Given the description of an element on the screen output the (x, y) to click on. 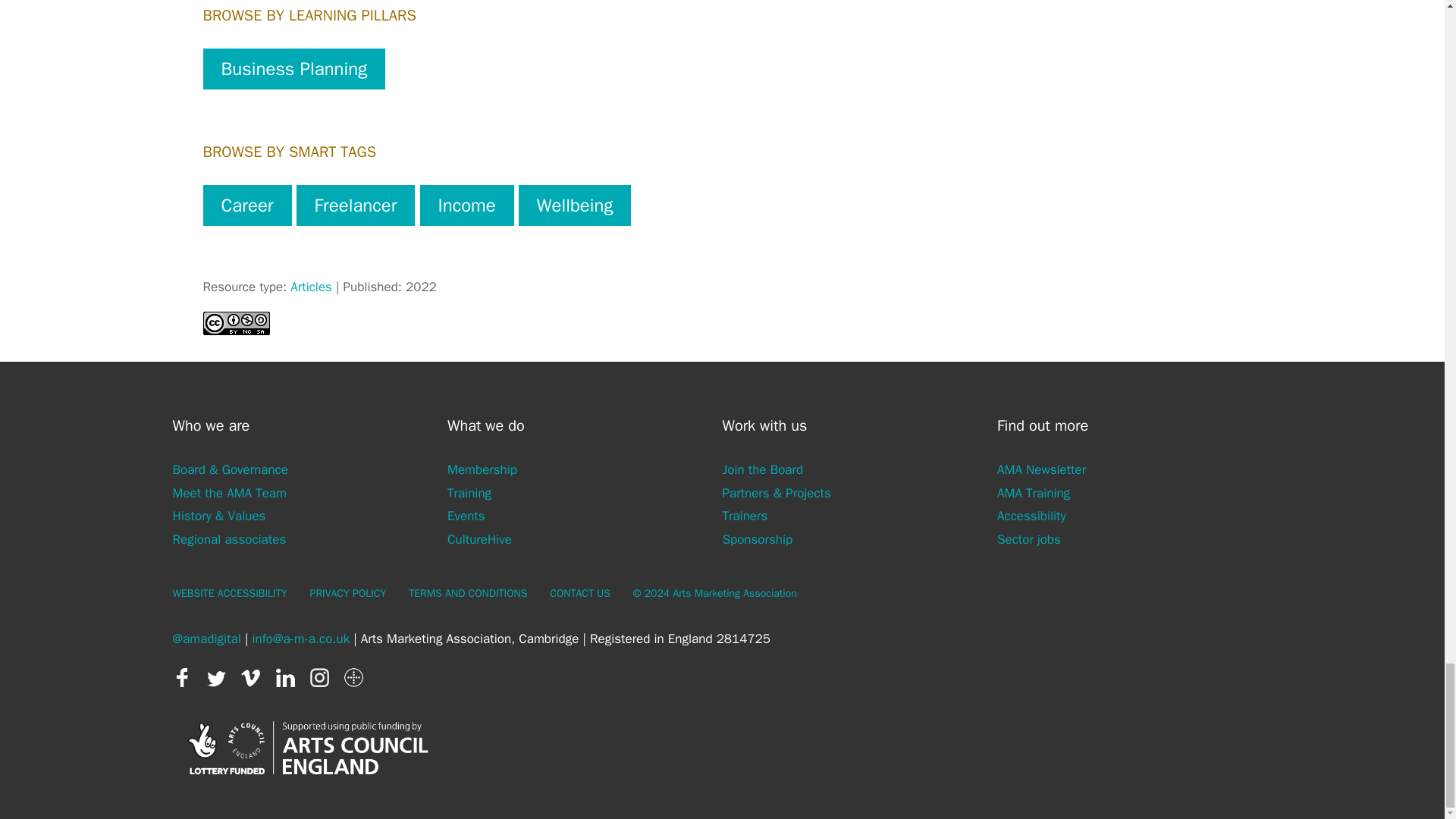
Income (466, 205)
Career (247, 205)
Articles (310, 286)
Business Planning (294, 68)
Freelancer (355, 205)
Wellbeing (574, 205)
